Given the description of an element on the screen output the (x, y) to click on. 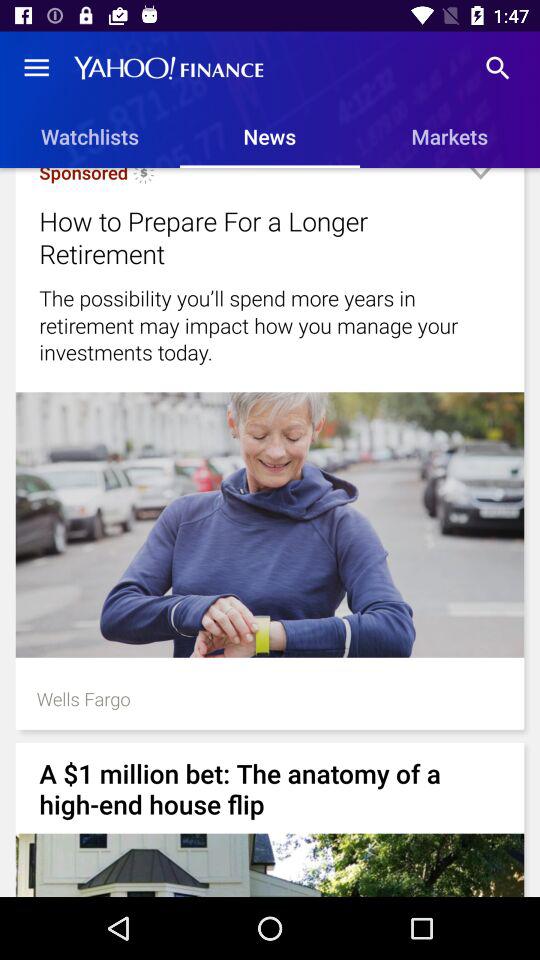
turn on item above the the possibility you item (244, 237)
